Given the description of an element on the screen output the (x, y) to click on. 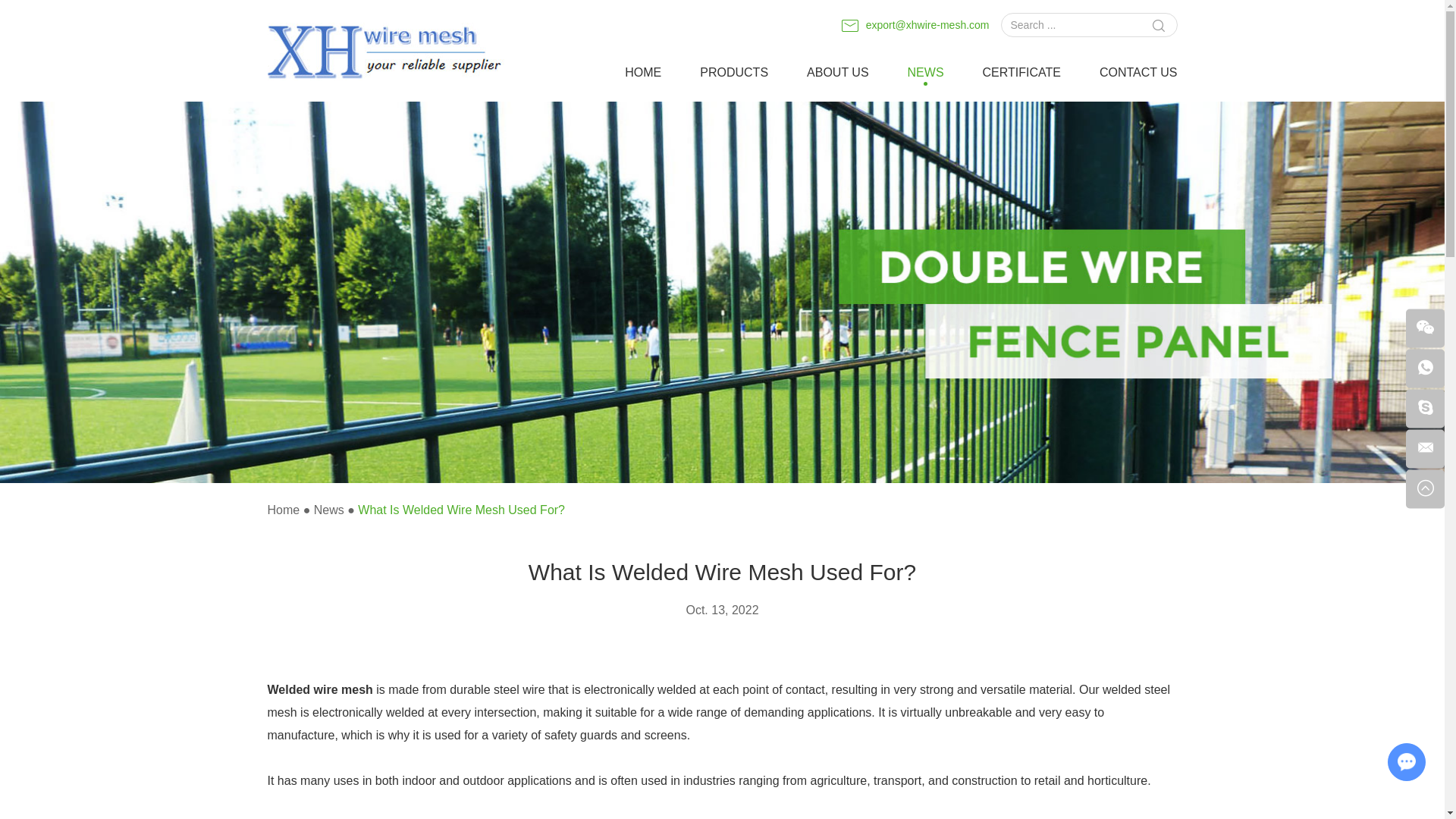
ABOUT US (837, 74)
HOME (642, 74)
PRODUCTS (734, 74)
Anping Xinghong Metal Wire Mesh Co., Ltd. (387, 51)
CERTIFICATE (1021, 74)
Home (282, 509)
What Is Welded Wire Mesh Used For? (461, 509)
CONTACT US (1138, 74)
Products (734, 74)
News (328, 509)
Home (642, 74)
Welded wire mesh (319, 689)
NEWS (925, 74)
